Given the description of an element on the screen output the (x, y) to click on. 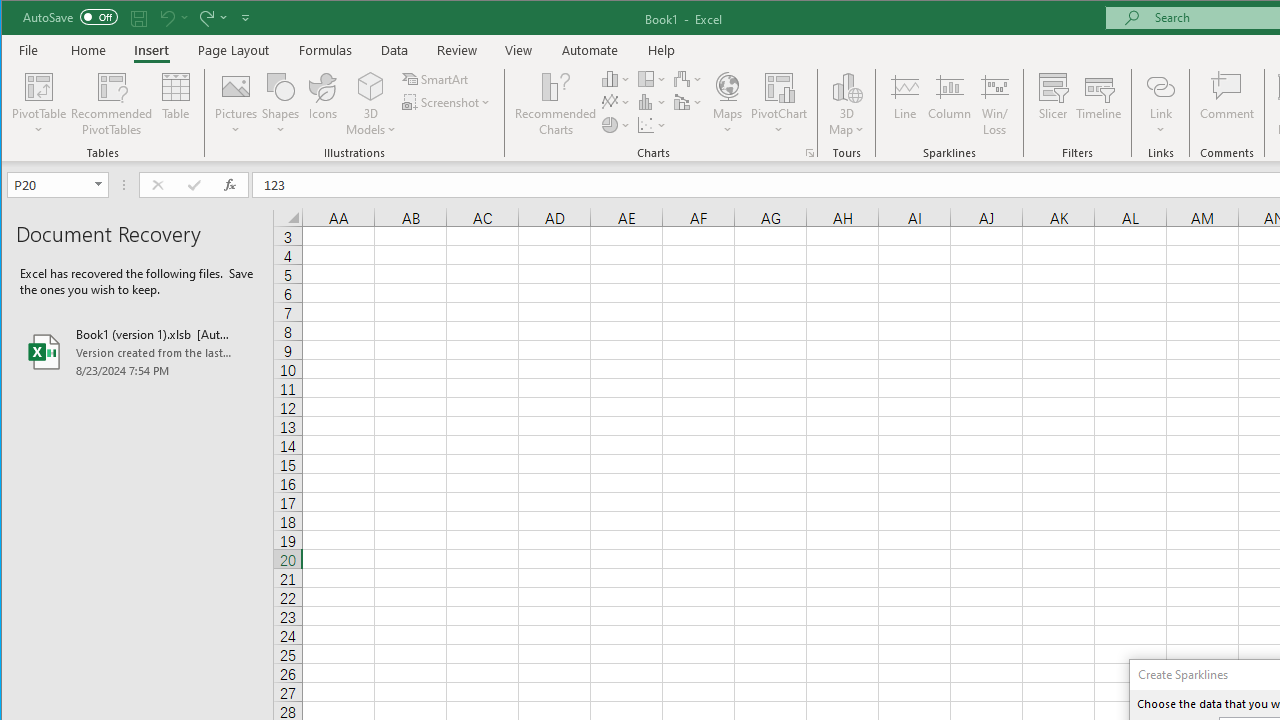
Comment (1227, 104)
PivotChart (779, 86)
Table (175, 104)
Insert Statistic Chart (652, 101)
Slicer... (1052, 104)
3D Models (371, 104)
3D Map (846, 104)
Insert Column or Bar Chart (616, 78)
